Given the description of an element on the screen output the (x, y) to click on. 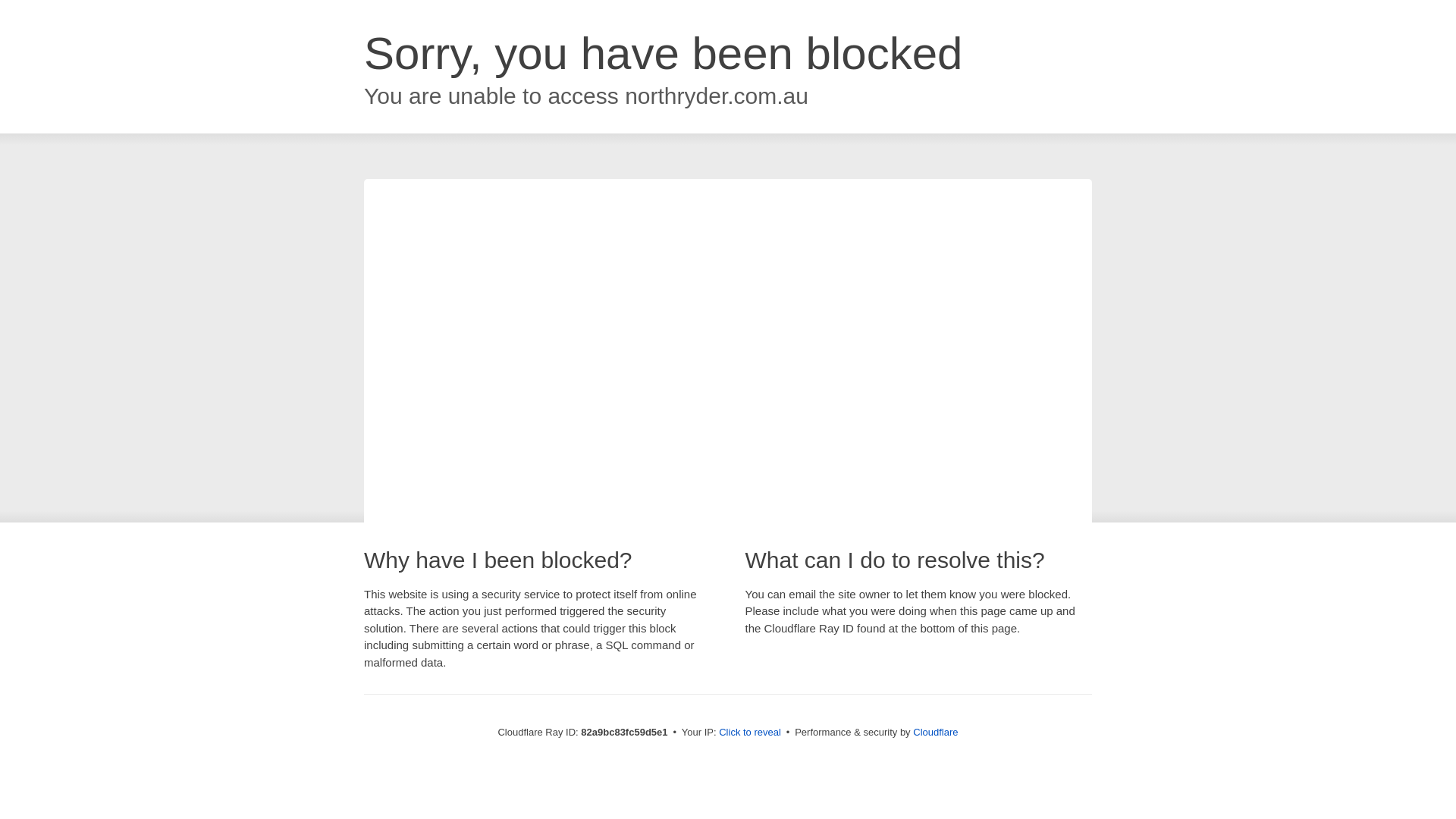
Click to reveal Element type: text (749, 732)
Cloudflare Element type: text (935, 731)
